Given the description of an element on the screen output the (x, y) to click on. 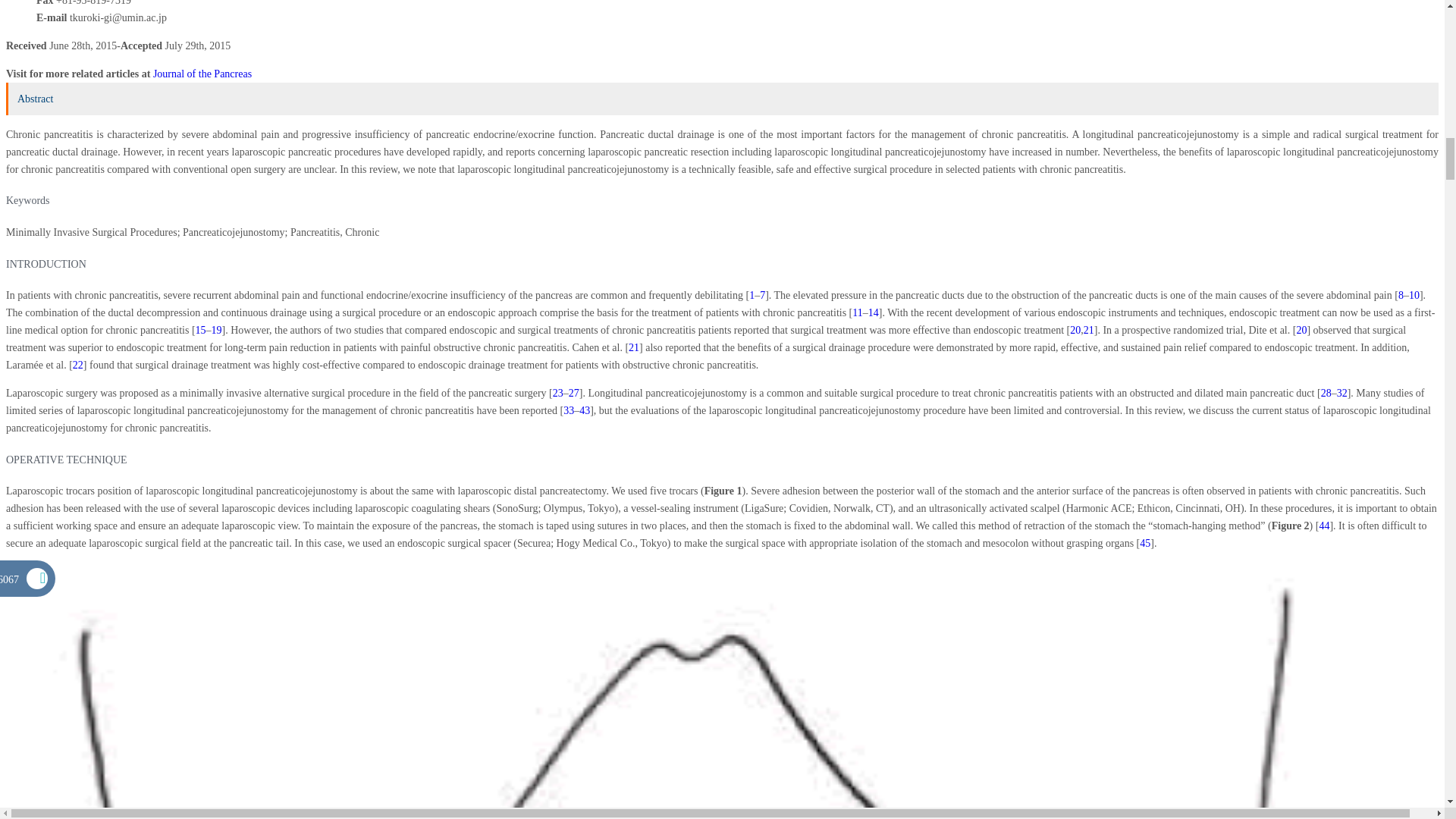
15 (200, 329)
14 (873, 312)
19 (216, 329)
21 (1088, 329)
Journal of the Pancreas (201, 73)
20 (1075, 329)
10 (1414, 295)
